Given the description of an element on the screen output the (x, y) to click on. 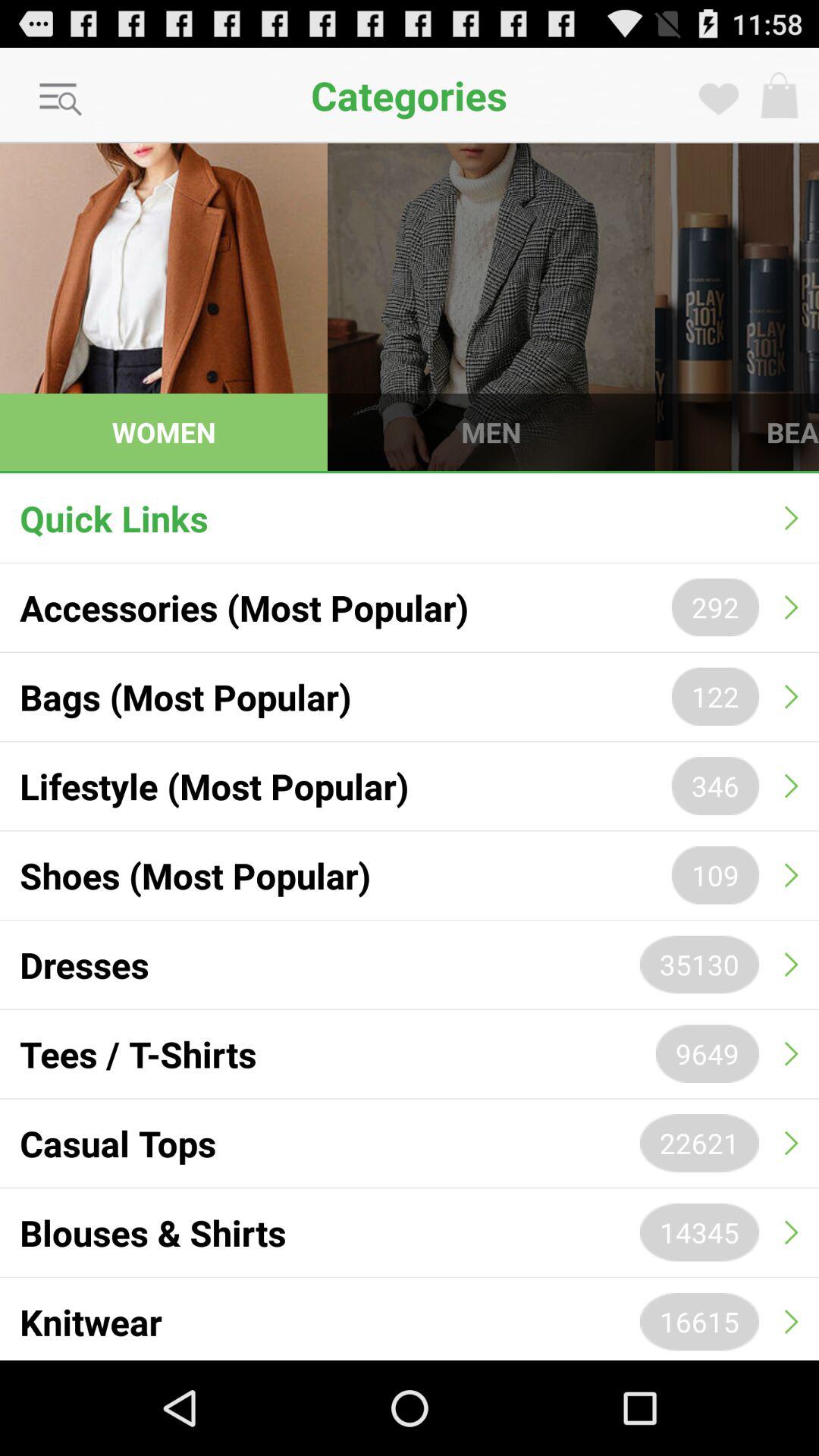
select the search for categories (61, 100)
